Given the description of an element on the screen output the (x, y) to click on. 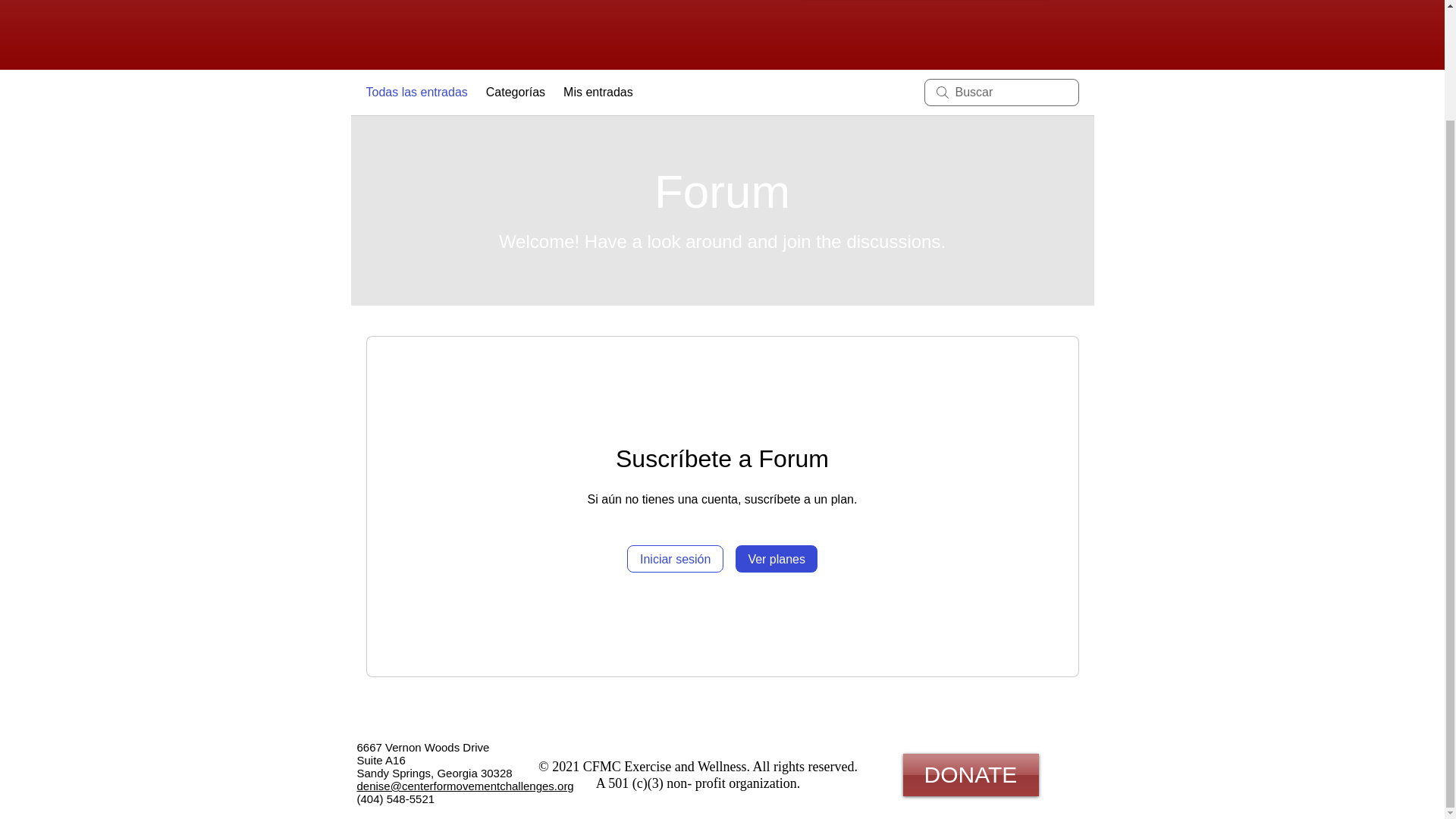
DONATE (970, 774)
Mis entradas (598, 92)
Todas las entradas (416, 92)
Ver planes (775, 558)
